Given the description of an element on the screen output the (x, y) to click on. 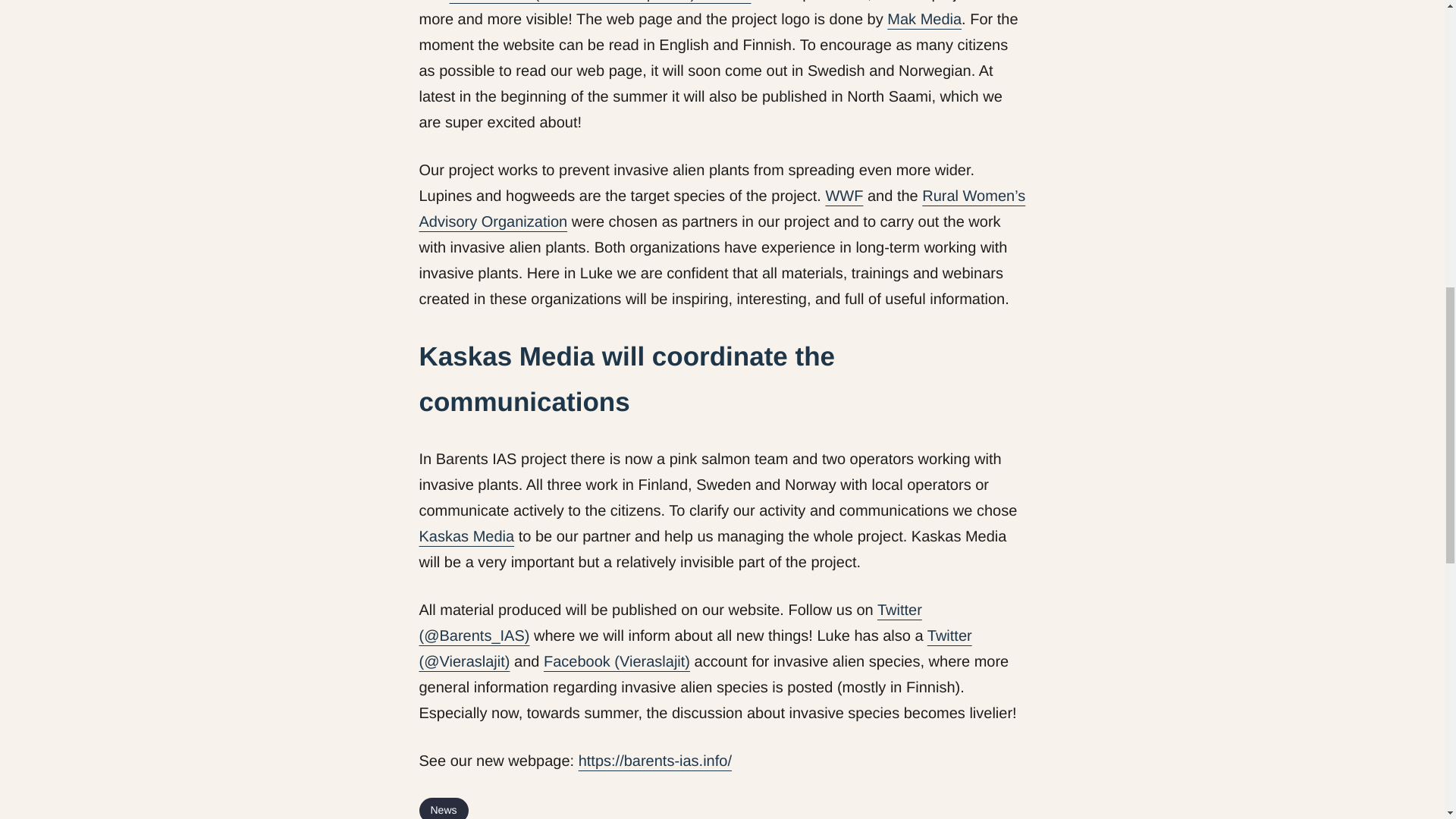
WWF (844, 196)
Mak Media (923, 19)
News (443, 808)
Kaskas Media (466, 536)
